Given the description of an element on the screen output the (x, y) to click on. 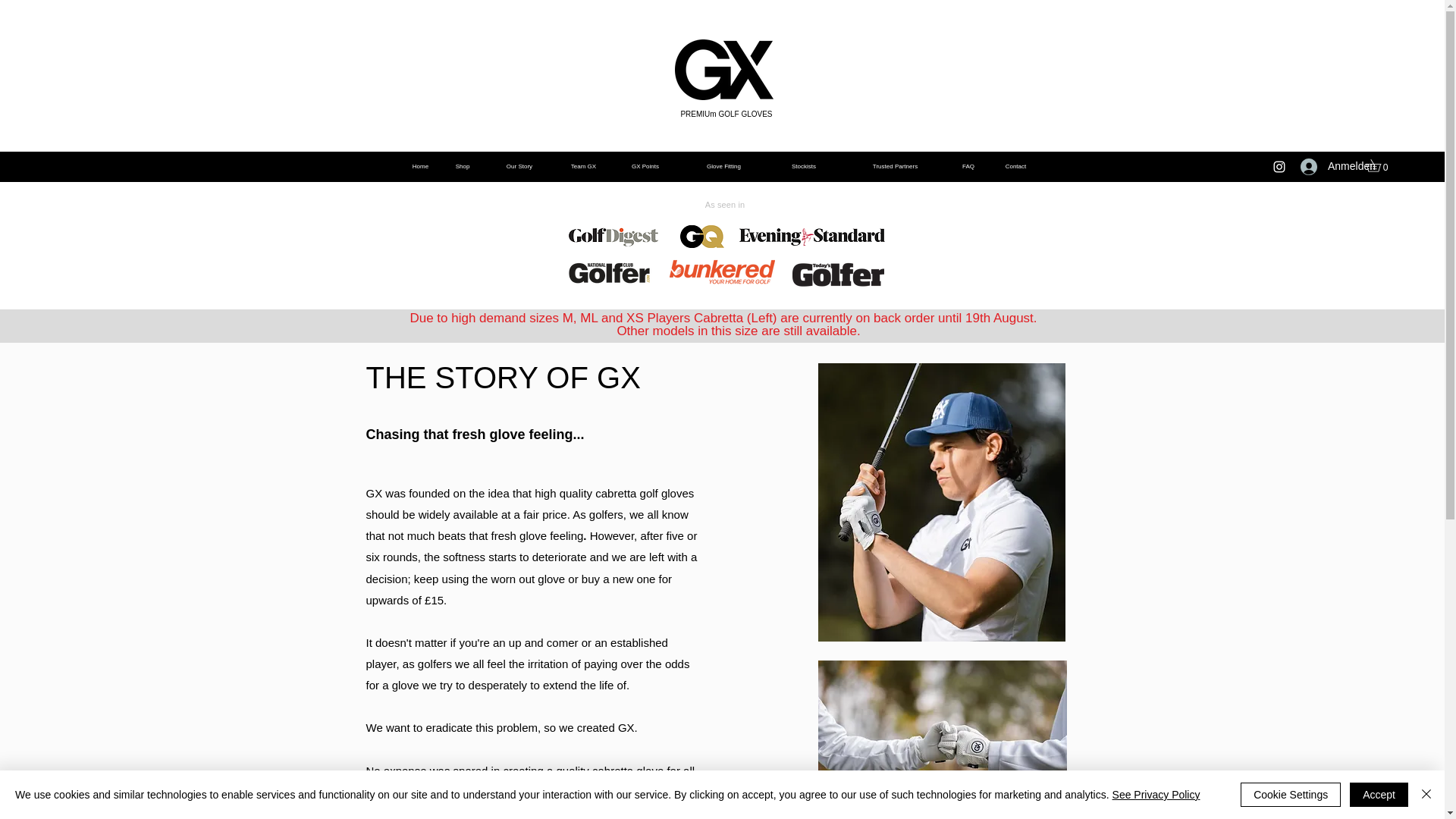
Shop (462, 166)
Stockists (803, 166)
Anmelden (1324, 166)
Cookie Settings (1290, 794)
0 (1379, 164)
FAQ (967, 166)
Glove Fitting (723, 166)
Accept (1378, 794)
0 (1379, 164)
Our Story (518, 166)
